Given the description of an element on the screen output the (x, y) to click on. 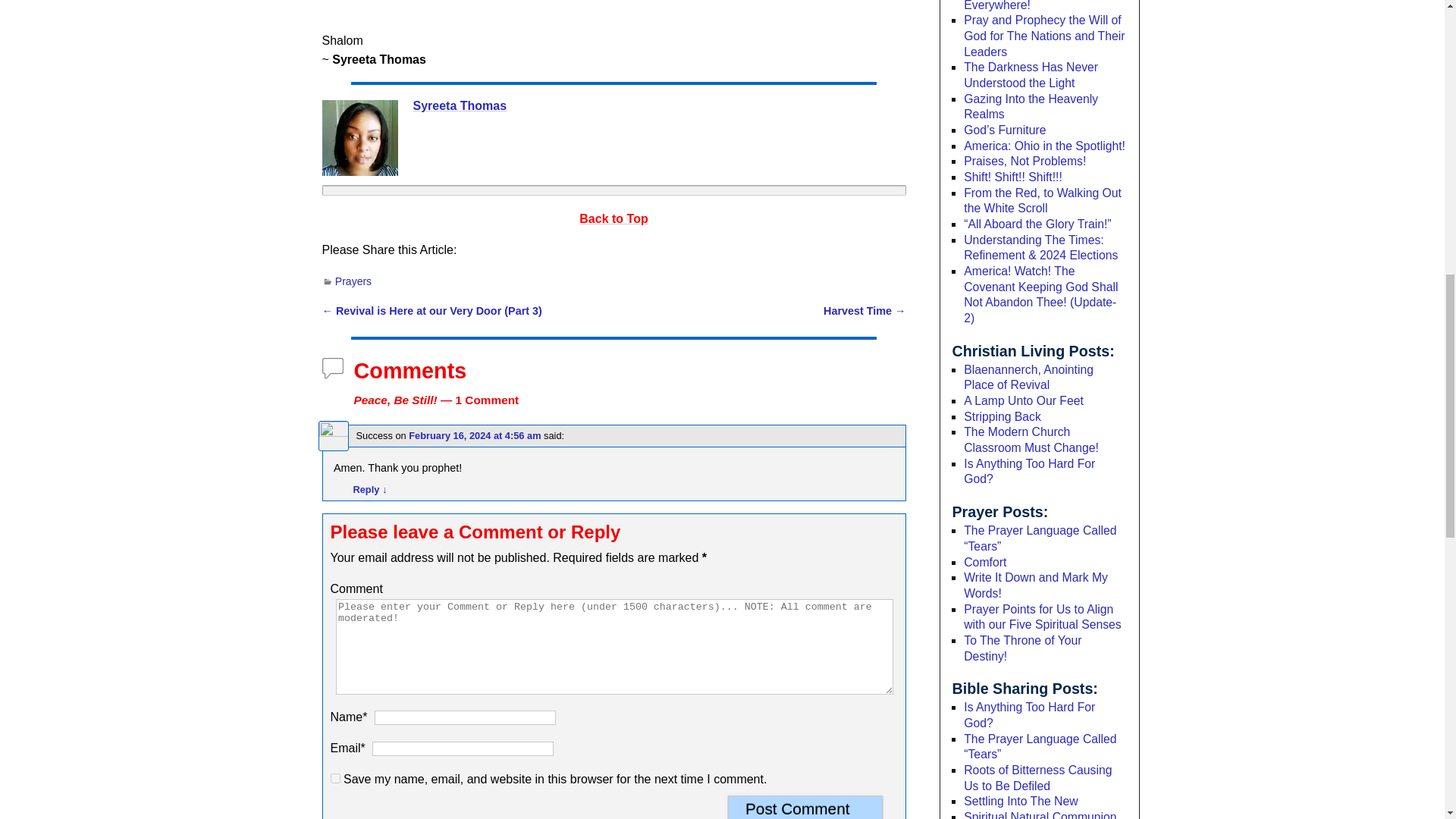
Post Comment (805, 806)
yes (335, 777)
Link to Syreeta Thomas on Facebook (359, 137)
